Given the description of an element on the screen output the (x, y) to click on. 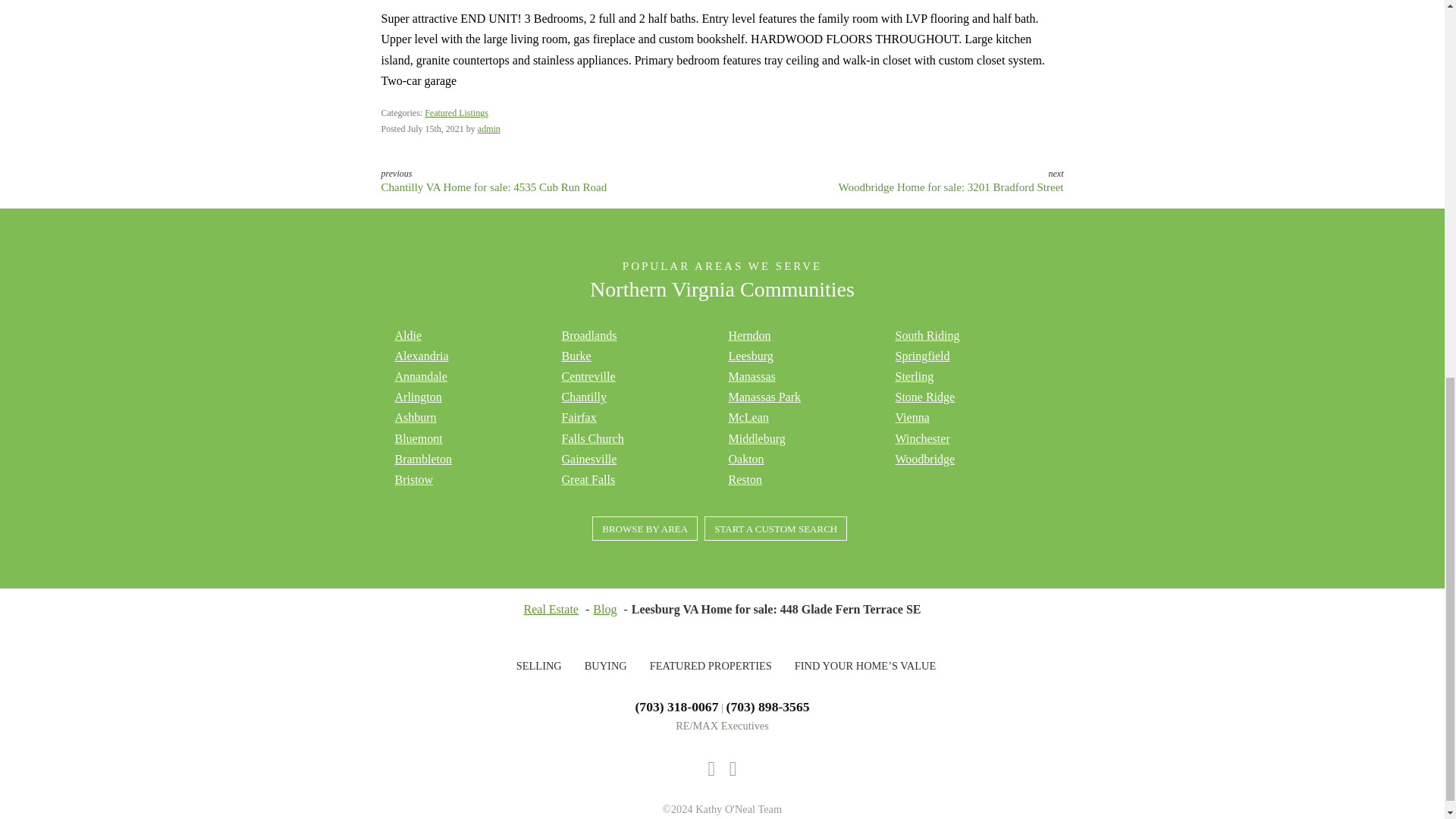
Chantilly VA Home for sale: 4535 Cub Run Road (493, 186)
Broadlands (587, 335)
Bristow (413, 479)
McLean (748, 417)
admin (488, 128)
Ashburn (414, 417)
Bluemont (418, 438)
Manassas (751, 376)
Chantilly (583, 396)
Aldie (408, 335)
